Given the description of an element on the screen output the (x, y) to click on. 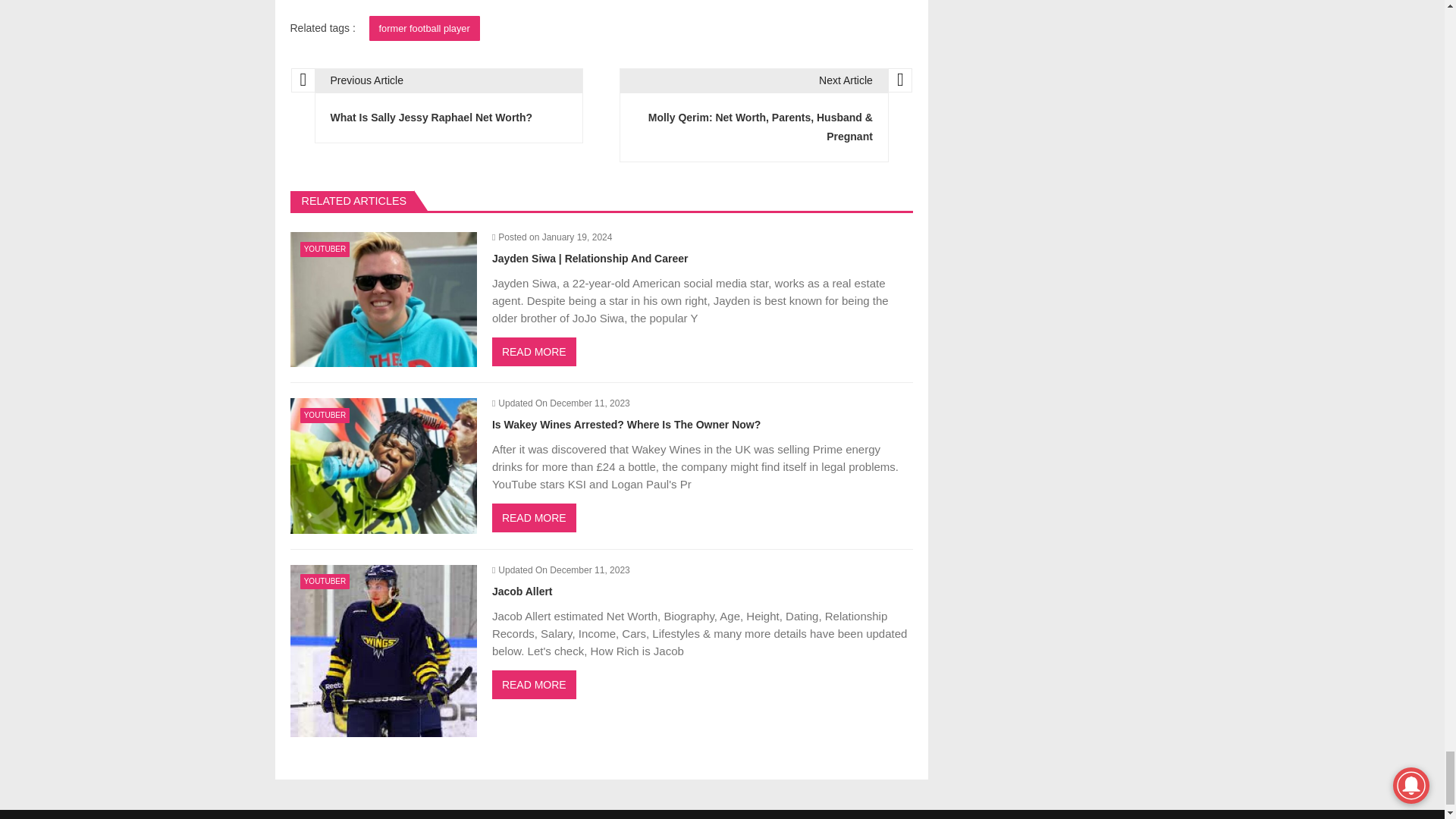
Jacob Allert (382, 651)
Is Wakey Wines Arrested? Where Is The Owner Now? (382, 465)
